Given the description of an element on the screen output the (x, y) to click on. 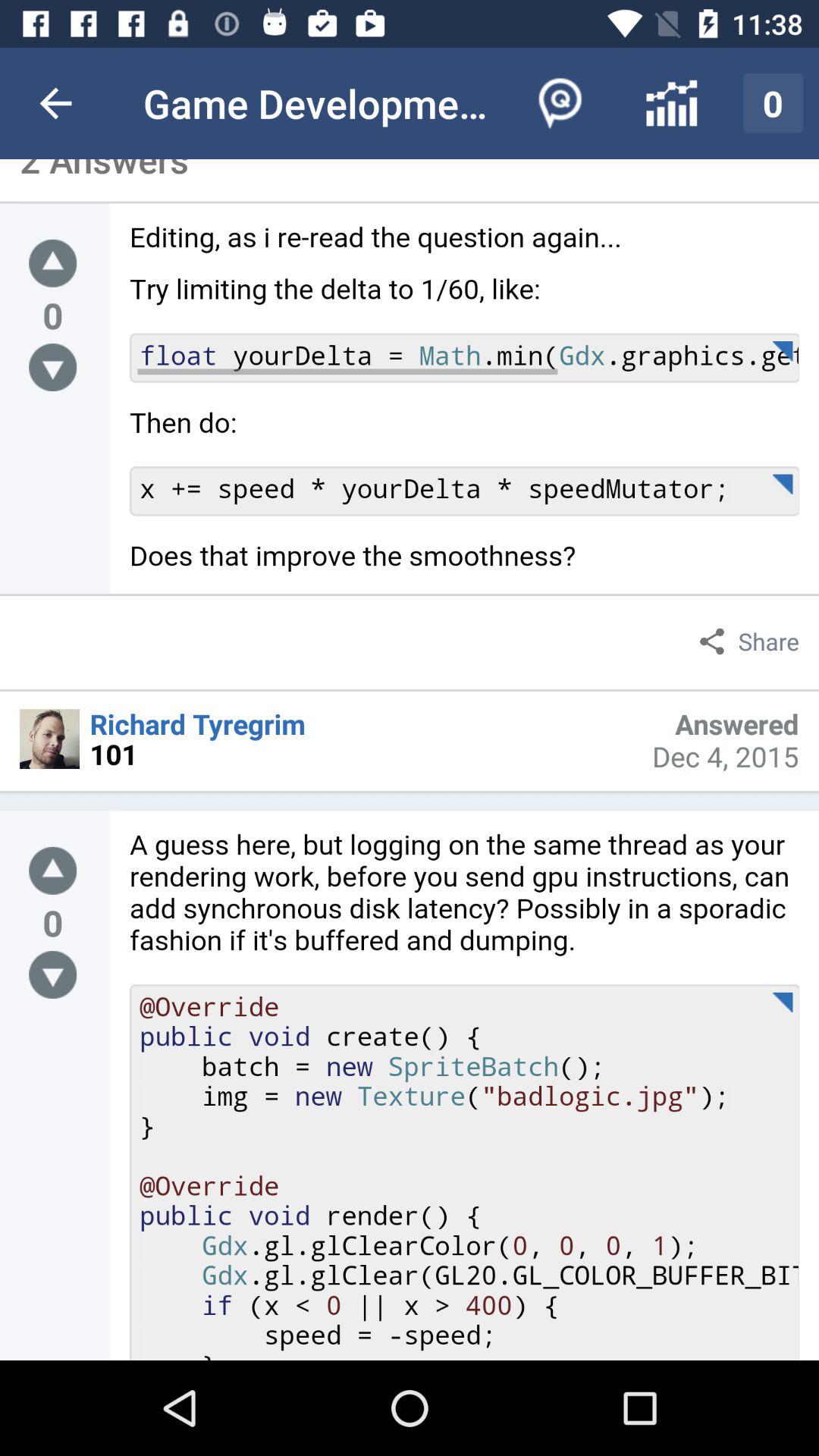
click on profile image (49, 738)
